Given the description of an element on the screen output the (x, y) to click on. 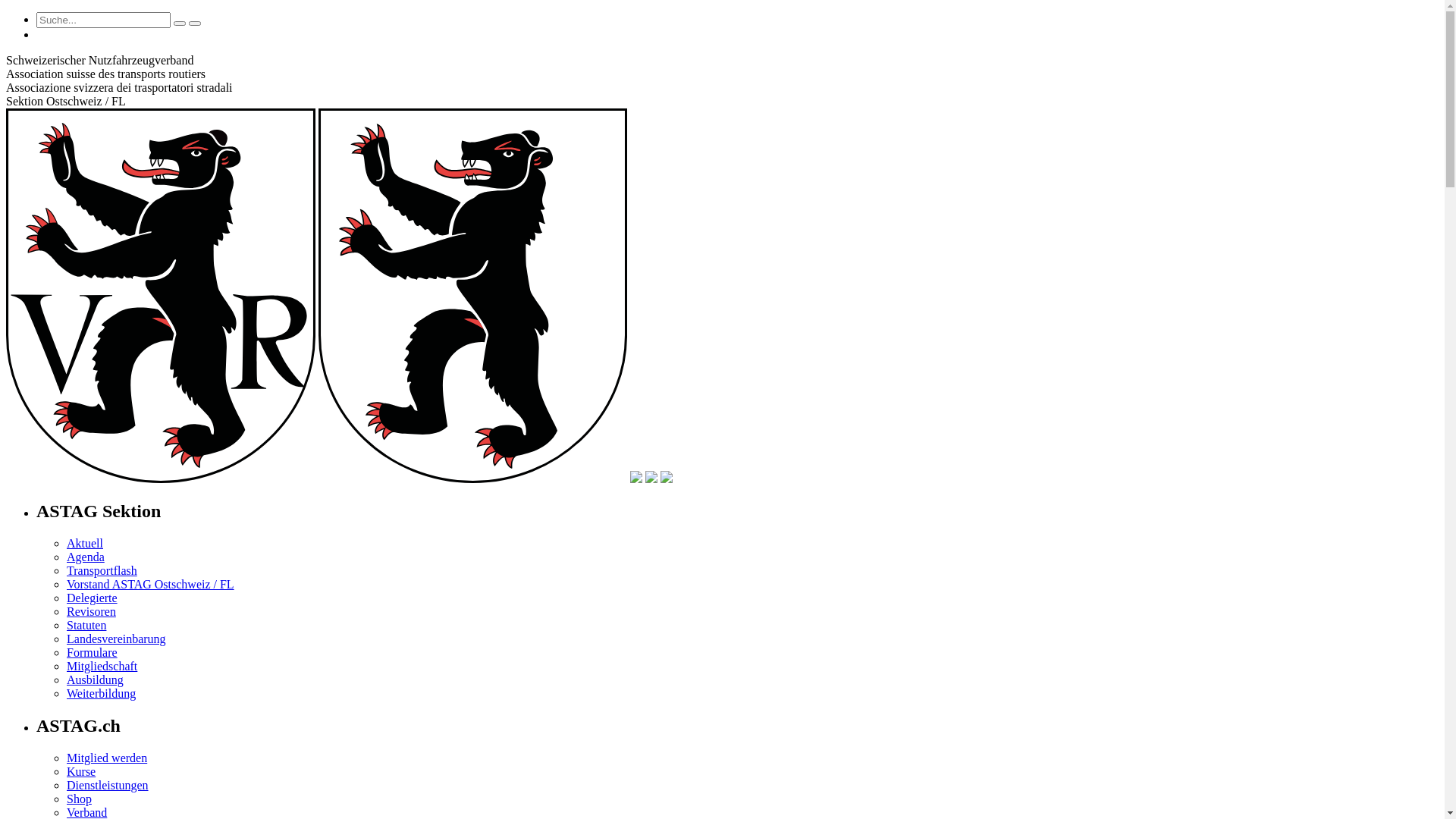
Revisoren Element type: text (91, 611)
Aktuell Element type: text (84, 542)
Ausbildung Element type: text (94, 679)
Mitglied werden Element type: text (106, 757)
Formulare Element type: text (91, 652)
Dienstleistungen Element type: text (107, 784)
Statuten Element type: text (86, 624)
Weiterbildung Element type: text (100, 693)
Vorstand ASTAG Ostschweiz / FL Element type: text (150, 583)
Agenda Element type: text (85, 556)
Mitgliedschaft Element type: text (101, 665)
Shop Element type: text (78, 798)
Kurse Element type: text (80, 771)
Landesvereinbarung Element type: text (116, 638)
Transportflash Element type: text (101, 570)
Delegierte Element type: text (91, 597)
